Given the description of an element on the screen output the (x, y) to click on. 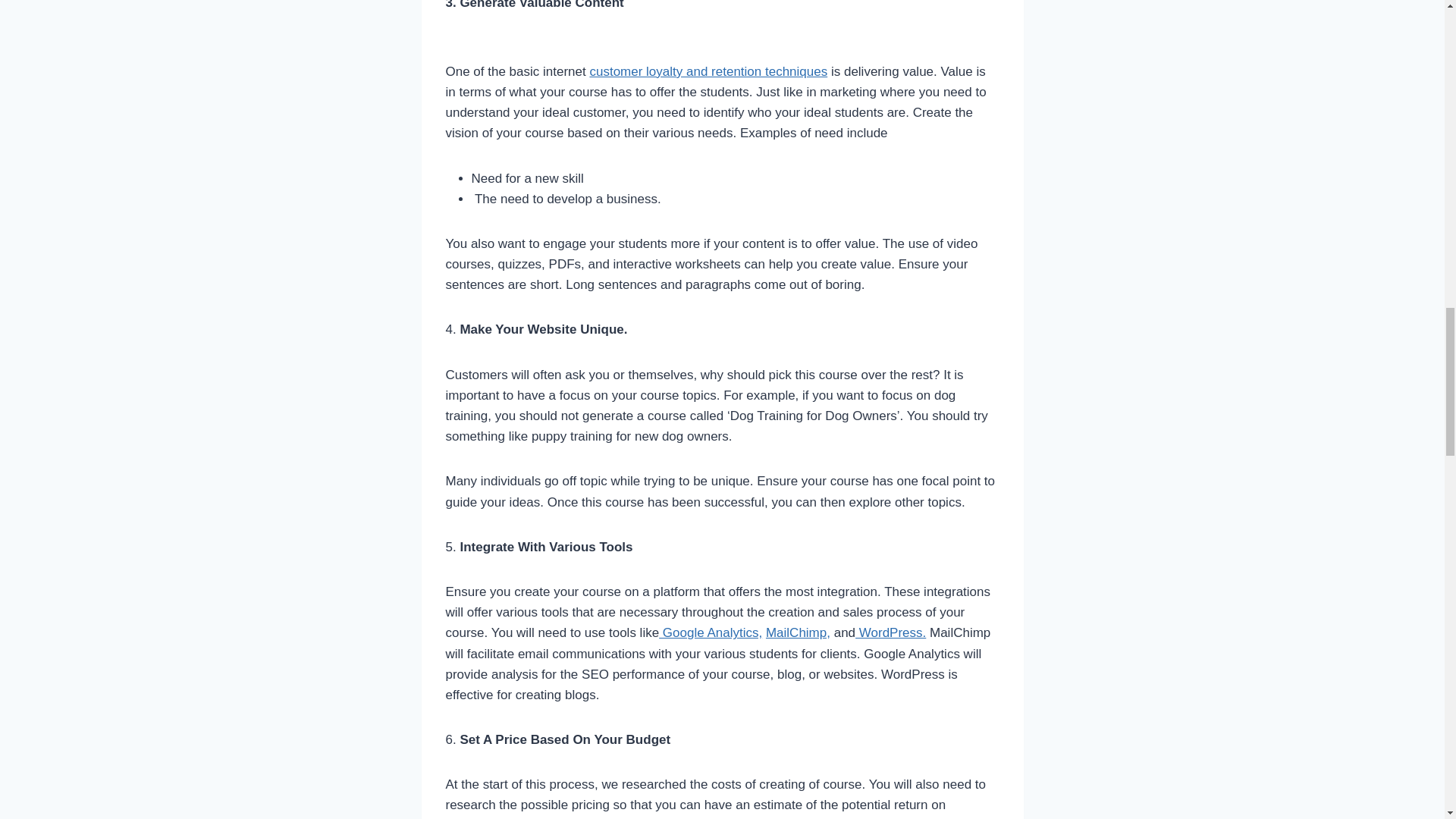
customer loyalty and retention techniques (708, 71)
MailChimp, (797, 632)
Google Analytics, (710, 632)
WordPress. (891, 632)
